Given the description of an element on the screen output the (x, y) to click on. 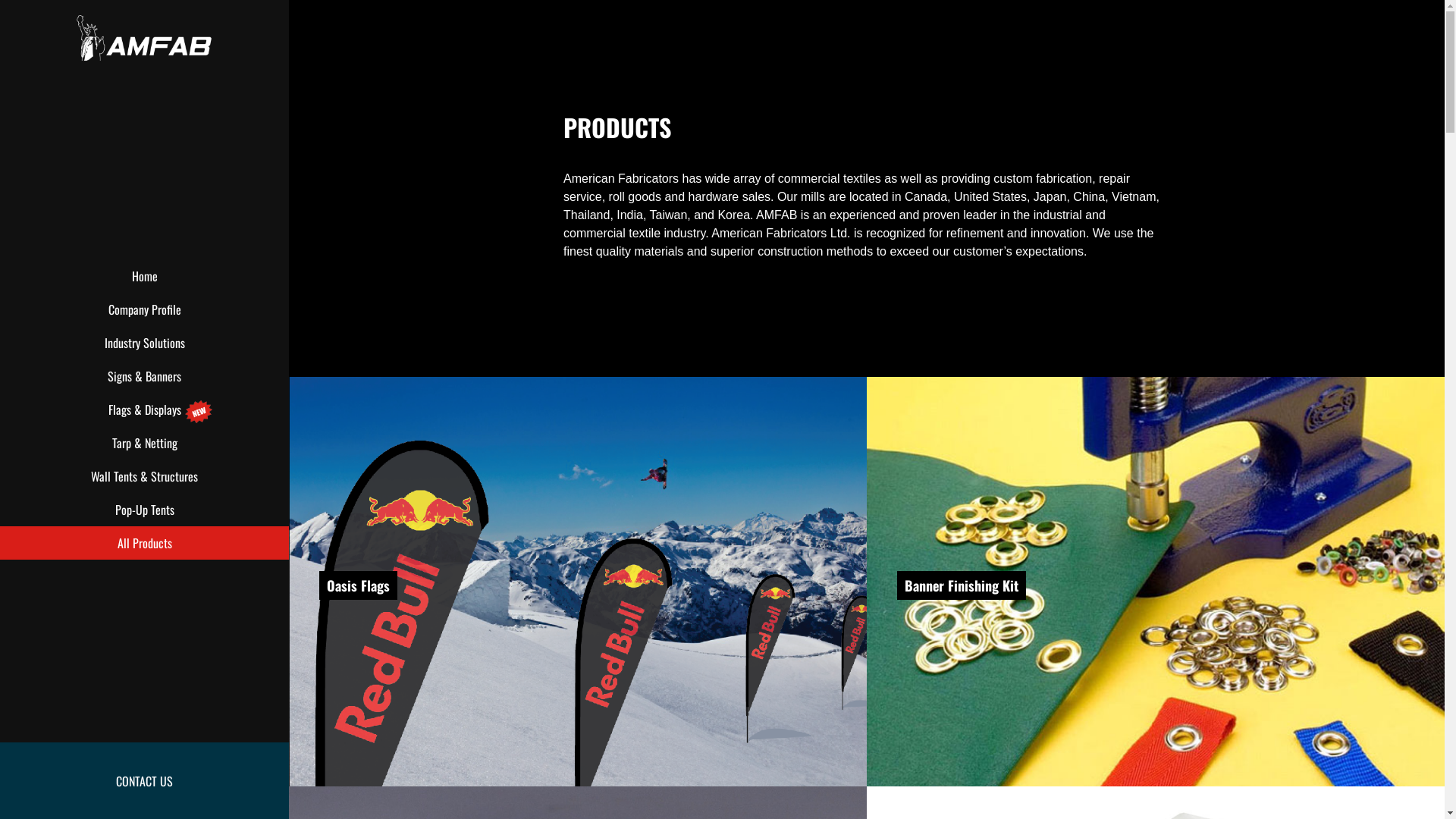
Wall Tents & Structures Element type: text (144, 476)
Signs & Banners Element type: text (144, 376)
Flags & Displays Element type: text (144, 409)
Home Element type: text (144, 275)
Pop-Up Tents Element type: text (144, 509)
Tarp & Netting Element type: text (144, 442)
All Products Element type: text (144, 542)
Company Profile Element type: text (144, 309)
Industry Solutions Element type: text (144, 342)
